Given the description of an element on the screen output the (x, y) to click on. 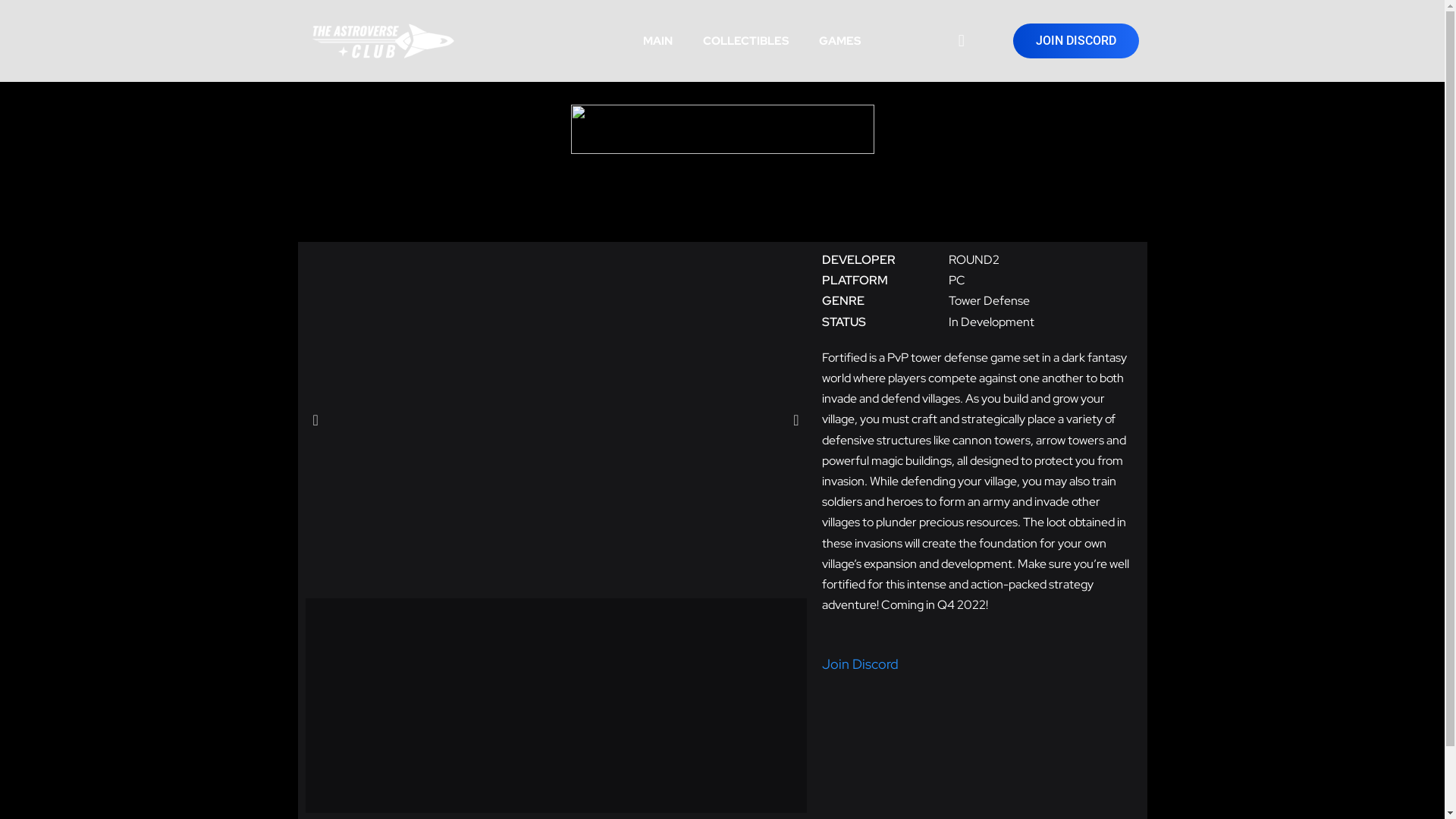
JOIN DISCORD Element type: text (1076, 40)
Join Discord Element type: text (860, 663)
MAIN Element type: text (657, 40)
COLLECTIBLES Element type: text (745, 40)
GAMES Element type: text (839, 40)
